Given the description of an element on the screen output the (x, y) to click on. 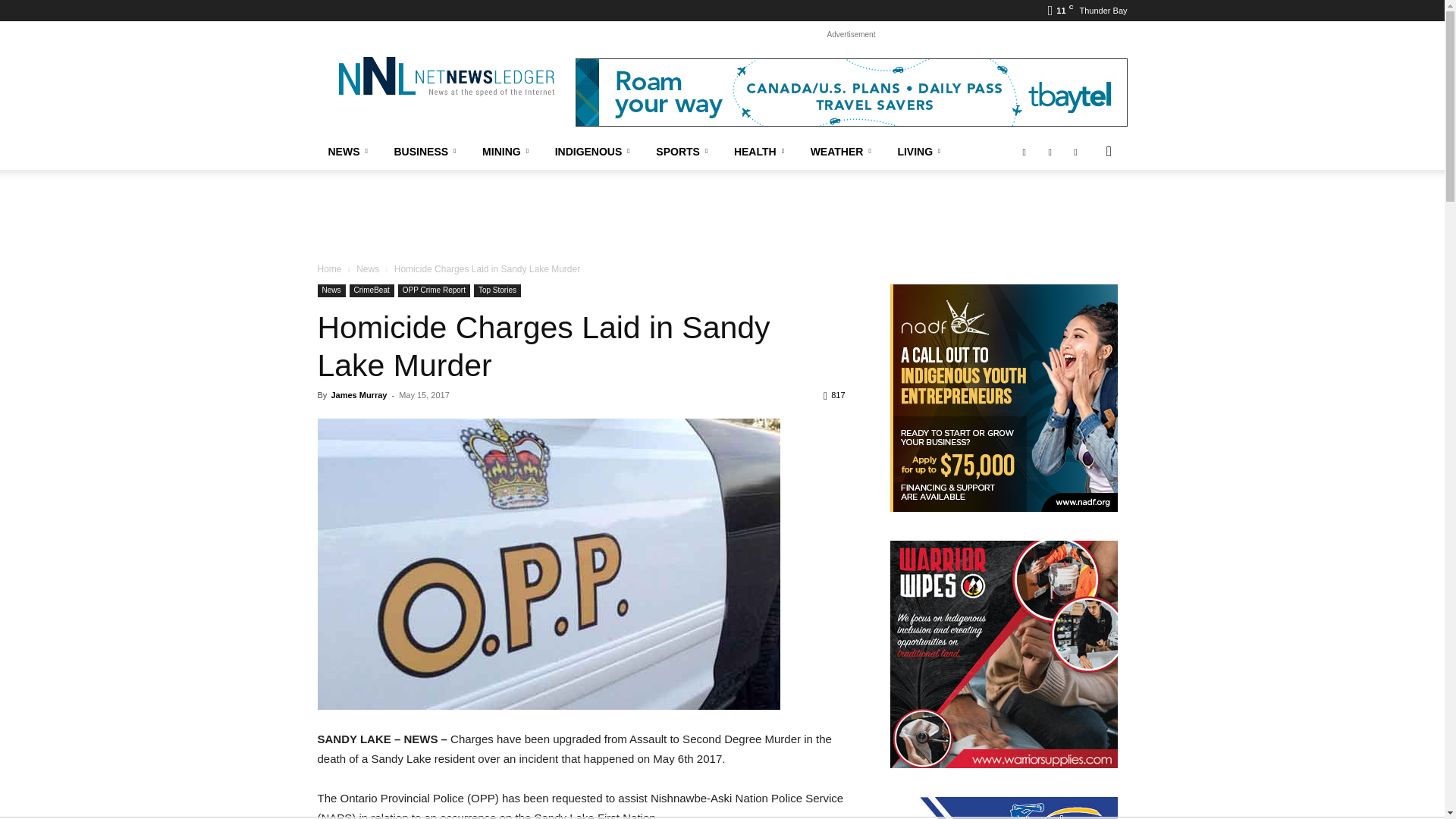
View all posts in News (367, 268)
tbaytel (850, 92)
NetNewsLedger (445, 76)
